Given the description of an element on the screen output the (x, y) to click on. 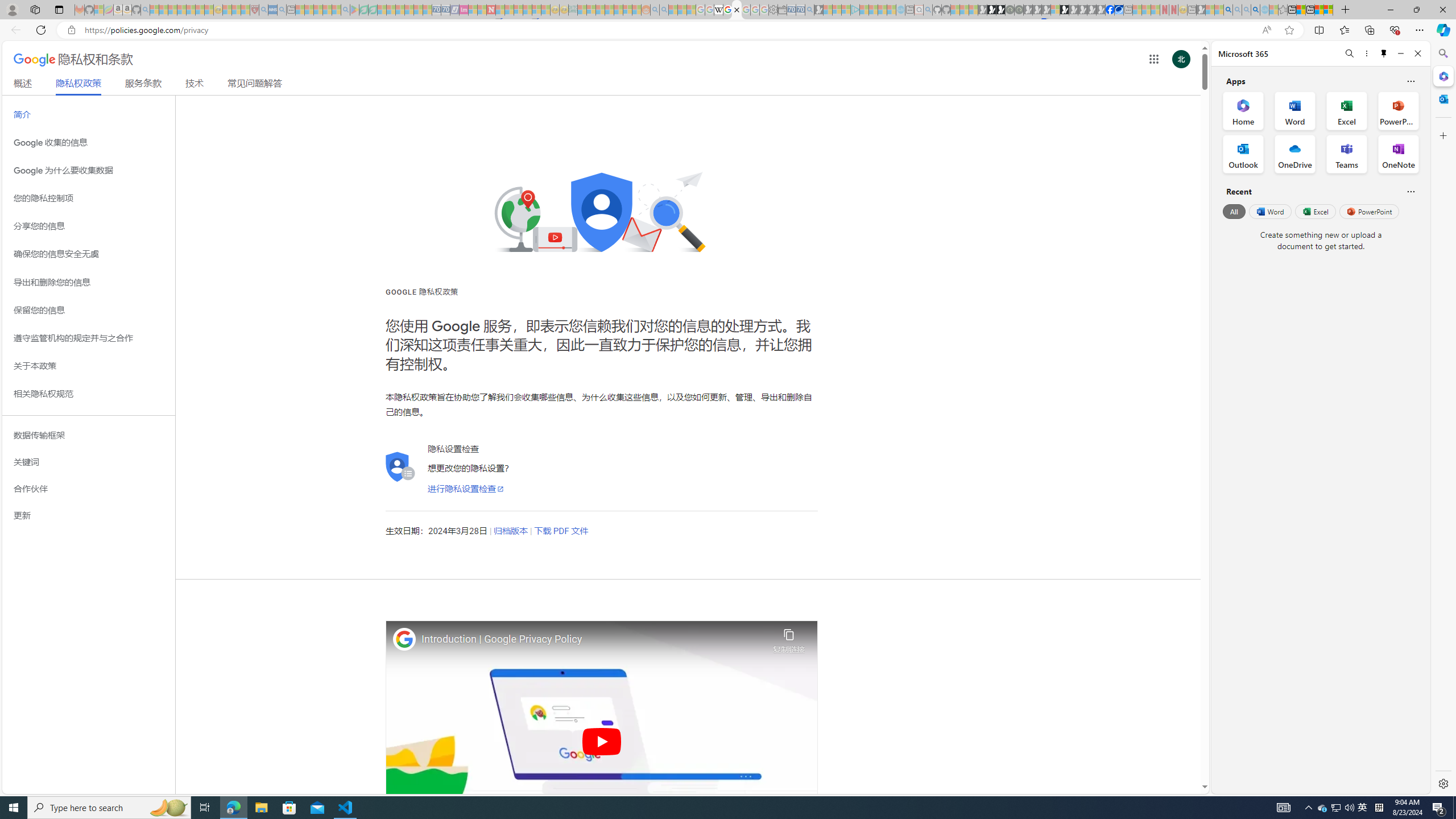
Target page - Wikipedia (718, 9)
OneNote Office App (1398, 154)
Aberdeen, Hong Kong SAR weather forecast | Microsoft Weather (1300, 9)
